Given the description of an element on the screen output the (x, y) to click on. 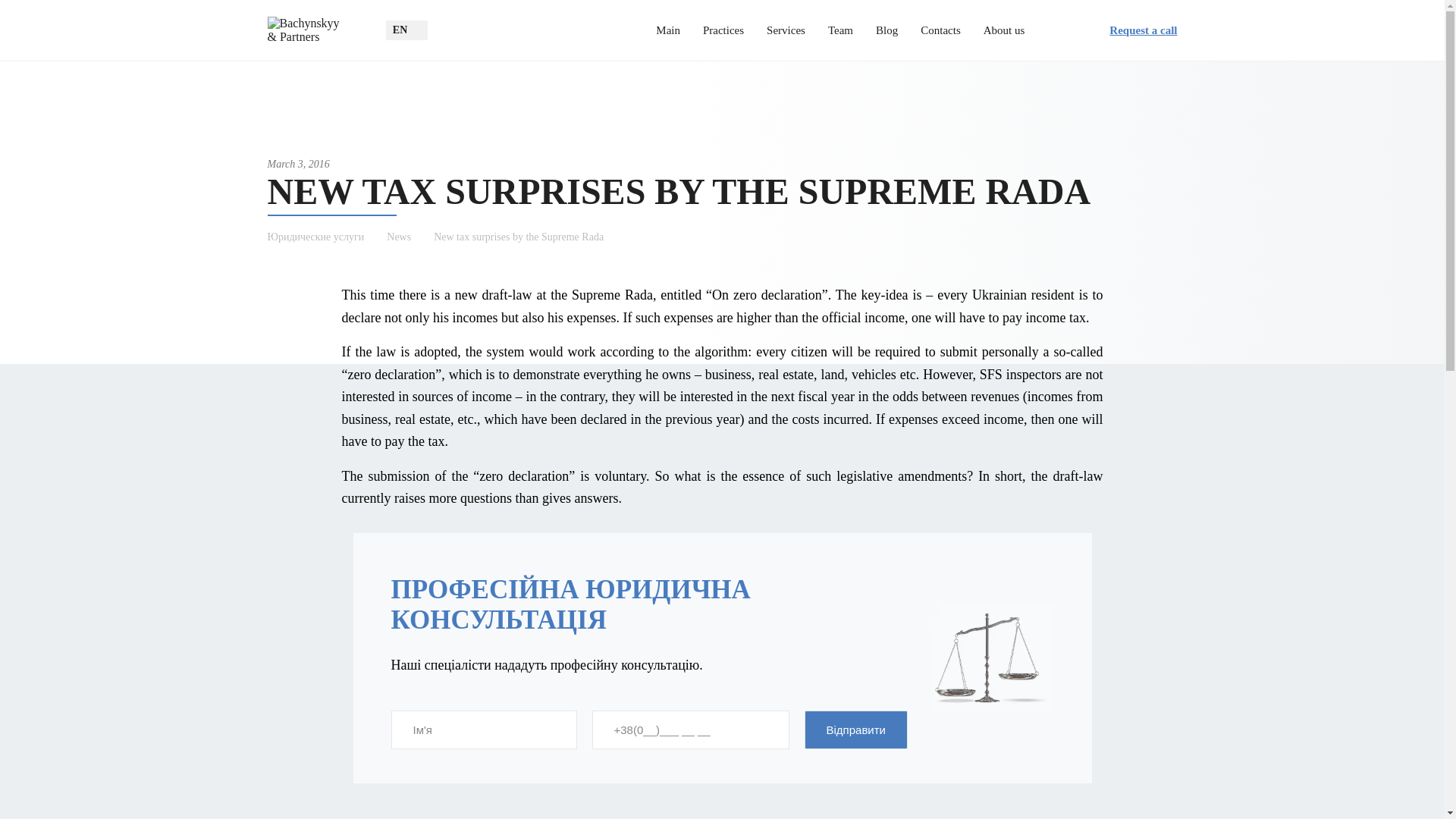
Request a call (1130, 29)
News (410, 236)
EN (406, 30)
